Given the description of an element on the screen output the (x, y) to click on. 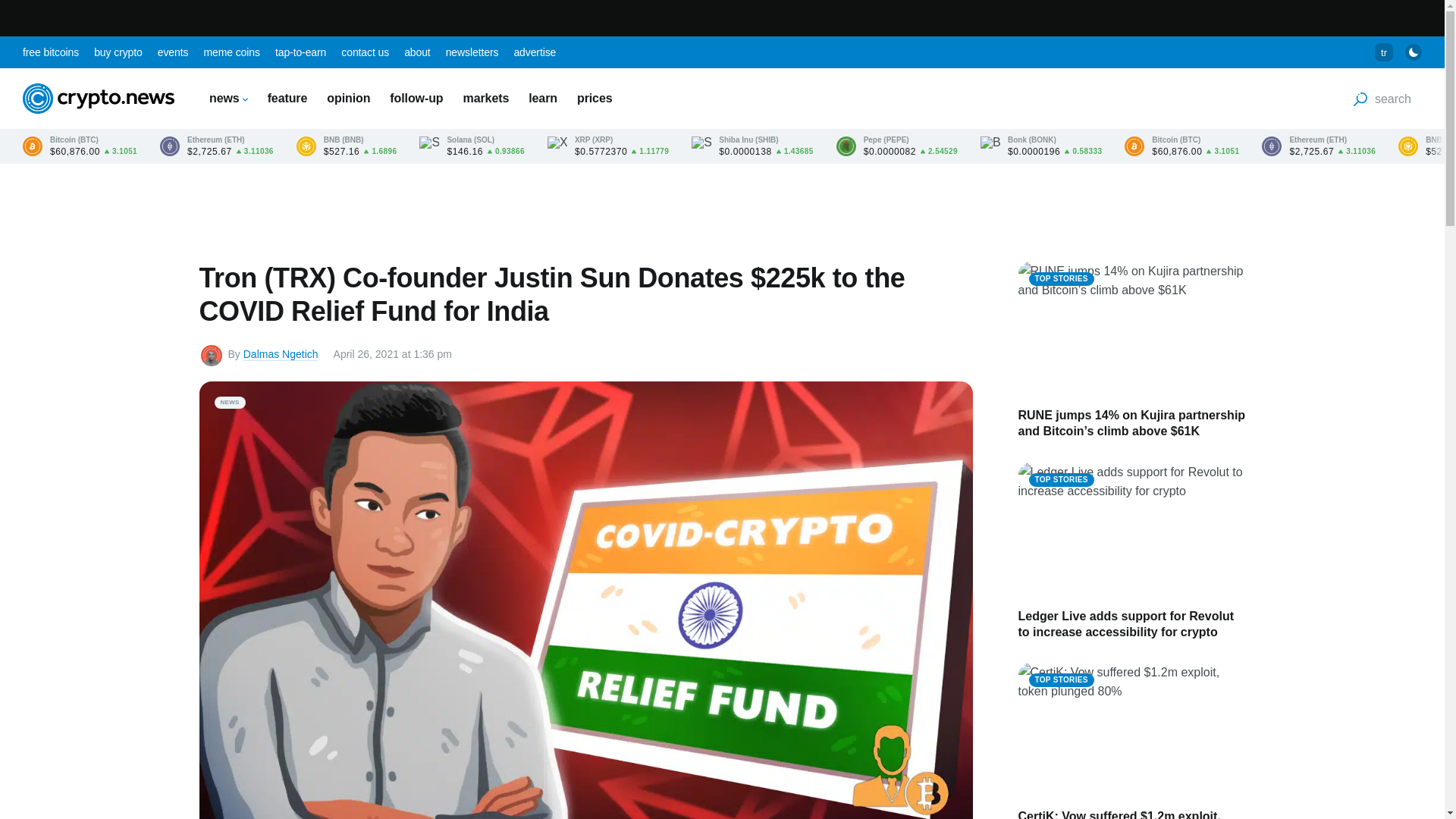
tap-to-earn (300, 51)
prices (594, 97)
meme coins (231, 51)
free bitcoins (50, 51)
Ethereum price (216, 145)
tr (1383, 52)
contact us (364, 51)
events (173, 51)
BNB price (347, 145)
Bitcoin price (79, 145)
